Given the description of an element on the screen output the (x, y) to click on. 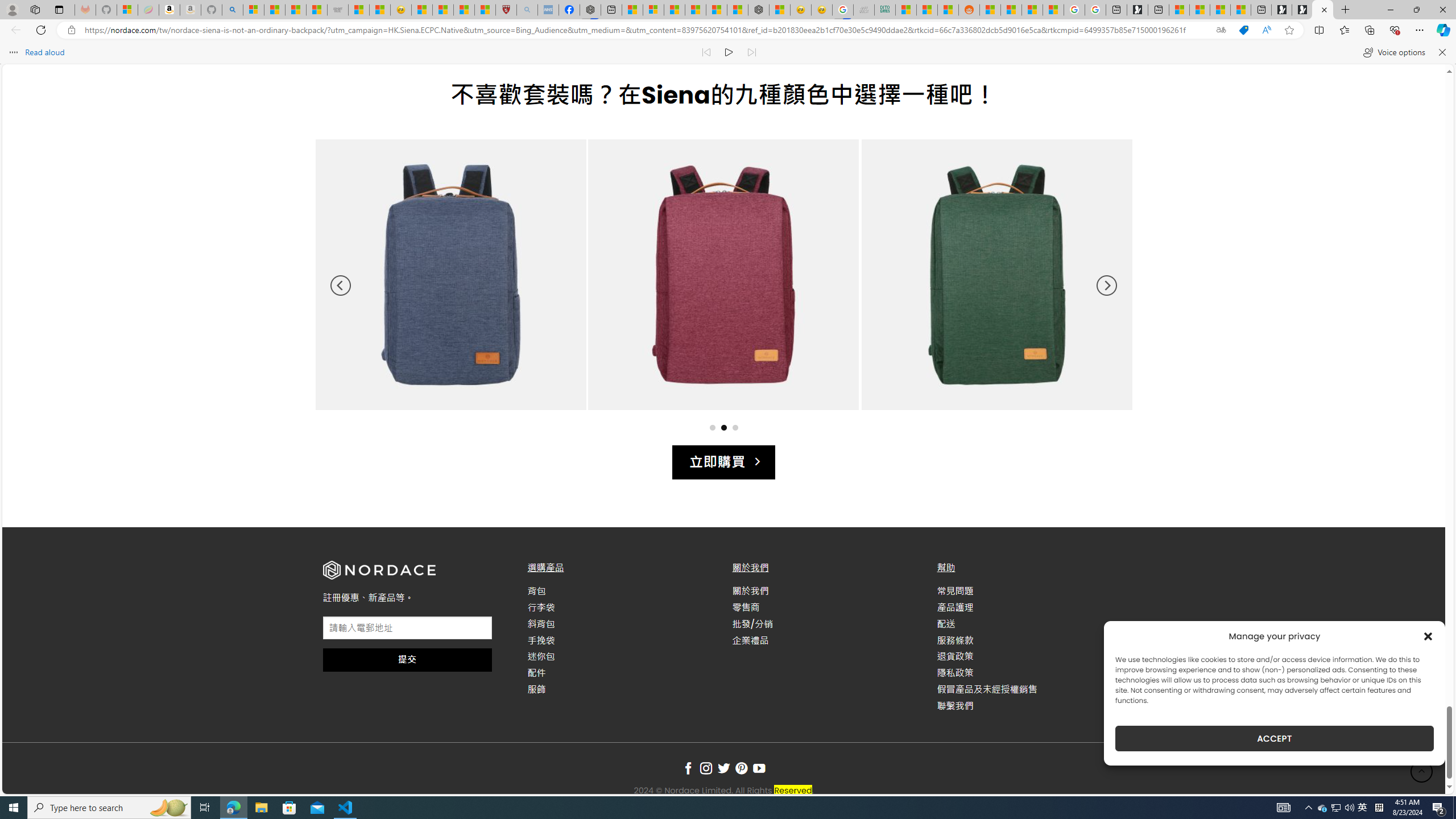
Go to top (1421, 771)
